Given the description of an element on the screen output the (x, y) to click on. 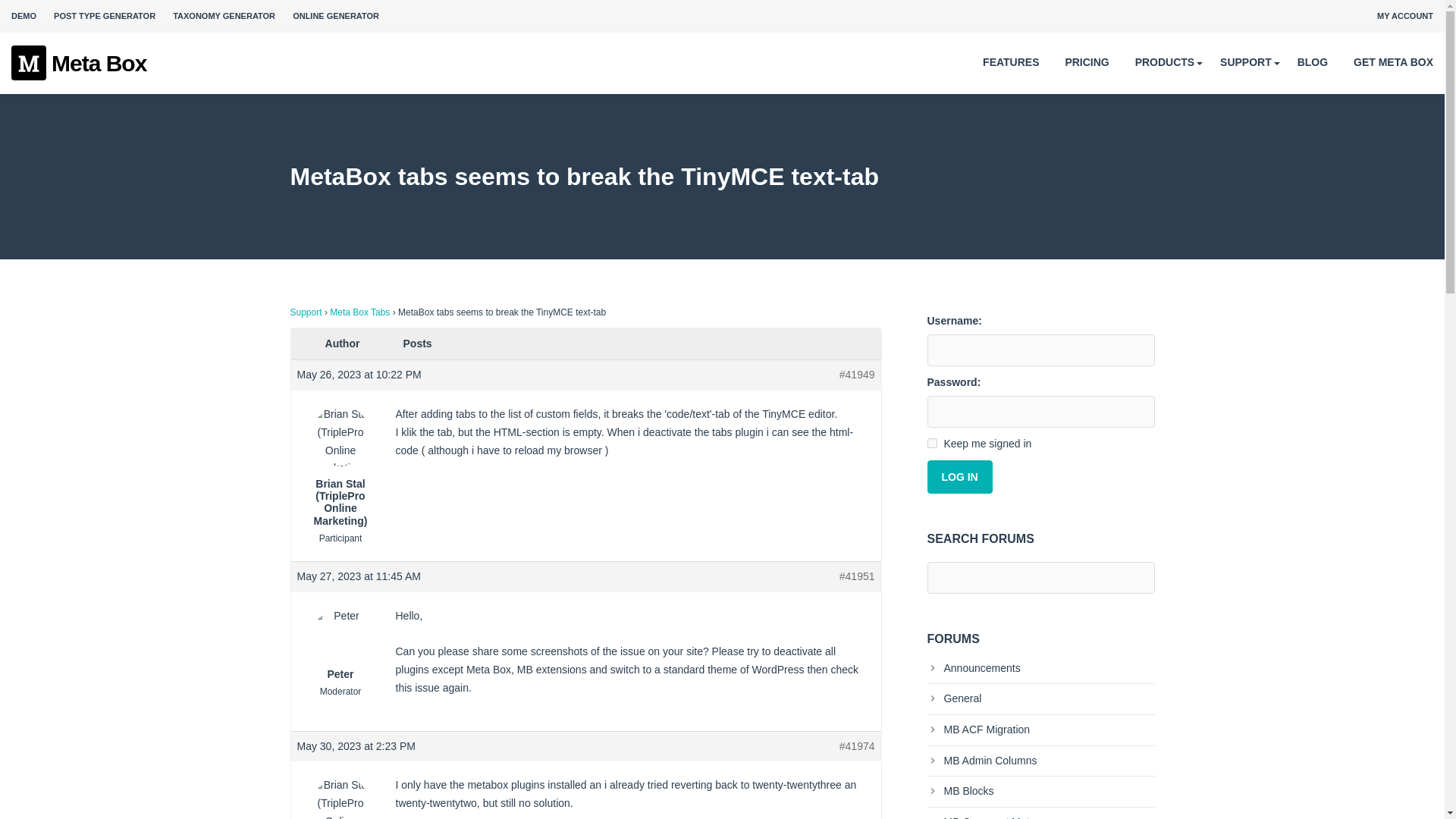
PRICING (1086, 62)
FEATURES (1010, 62)
GET META BOX (1393, 62)
Meta Box (79, 63)
Peter (340, 644)
Meta Box Tabs (360, 312)
TAXONOMY GENERATOR (224, 15)
POST TYPE GENERATOR (104, 15)
View Peter's profile (340, 644)
DEMO (23, 15)
